Given the description of an element on the screen output the (x, y) to click on. 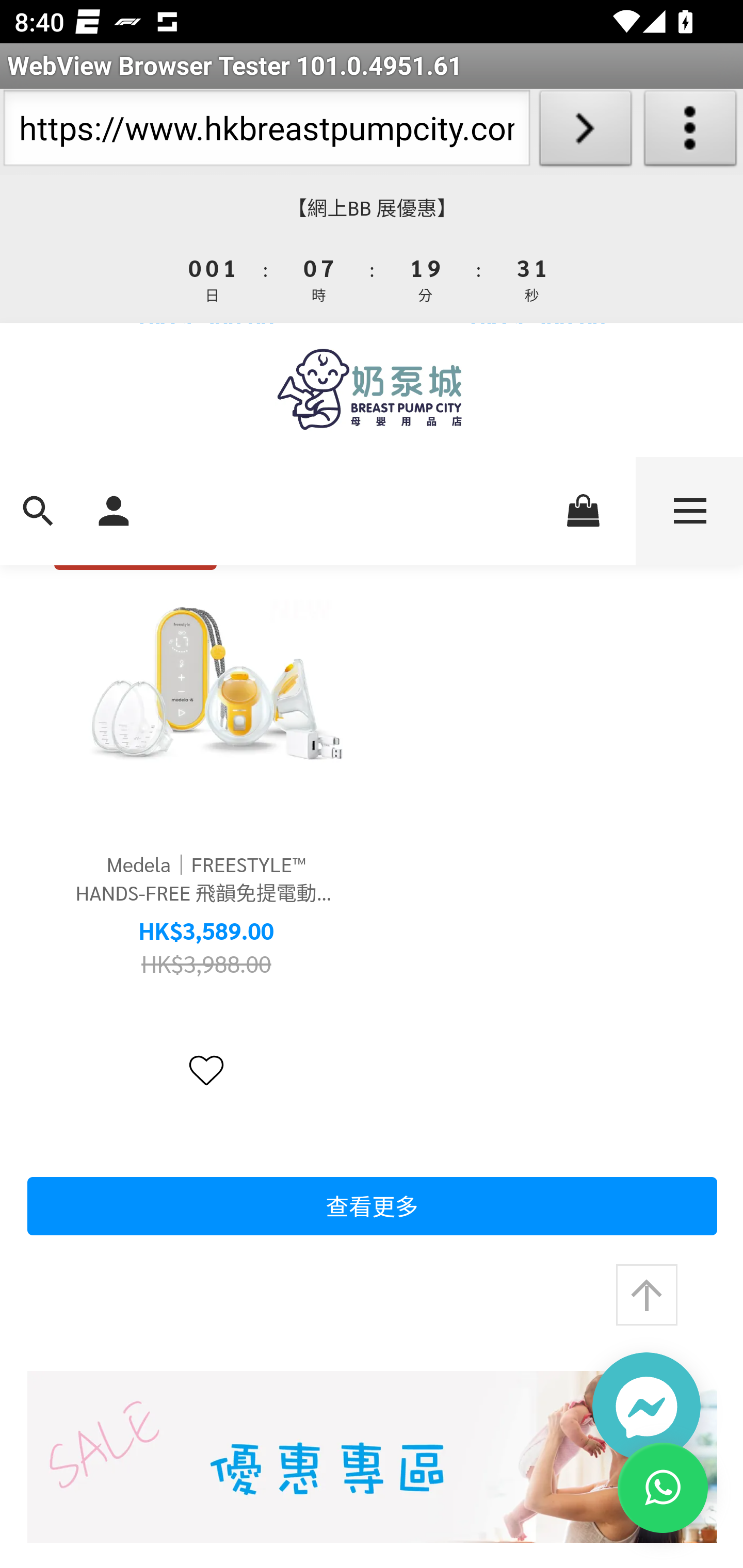
https://www.hkbreastpumpcity.com/ (266, 132)
Load URL (585, 132)
About WebView (690, 132)
【網上BB 展優惠】 (371, 208)
594x (371, 389)
sign_in (113, 508)
Medela｜FREESTYLE™ HANDS-FREE 飛韻免提電動雙泵 (206, 679)
Medela｜FREESTYLE™ HANDS-FREE 飛韻免提電動雙泵 (206, 877)
HK$3,589.00 (206, 931)
HK$3,988.00 (206, 962)
 (206, 1070)
查看更多 (371, 1206)
